Given the description of an element on the screen output the (x, y) to click on. 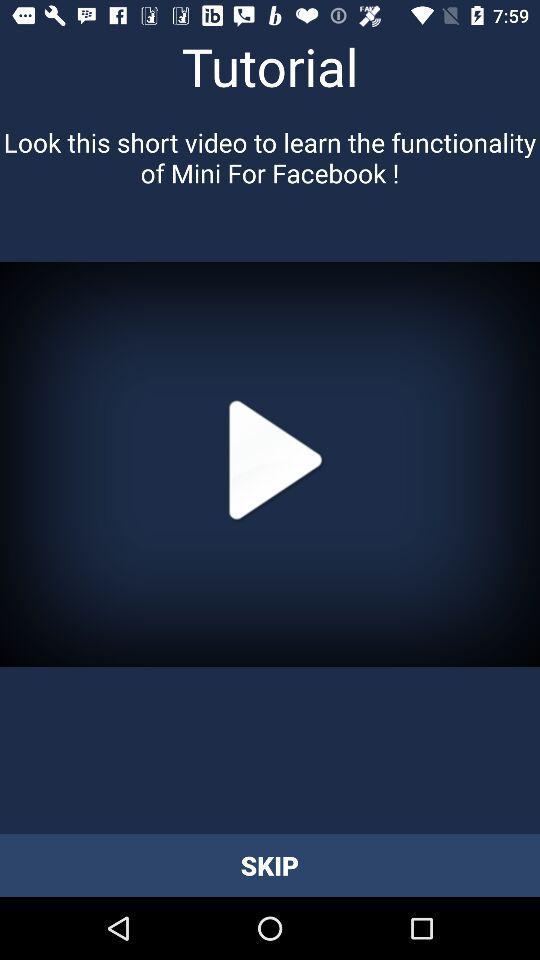
press skip icon (270, 864)
